Given the description of an element on the screen output the (x, y) to click on. 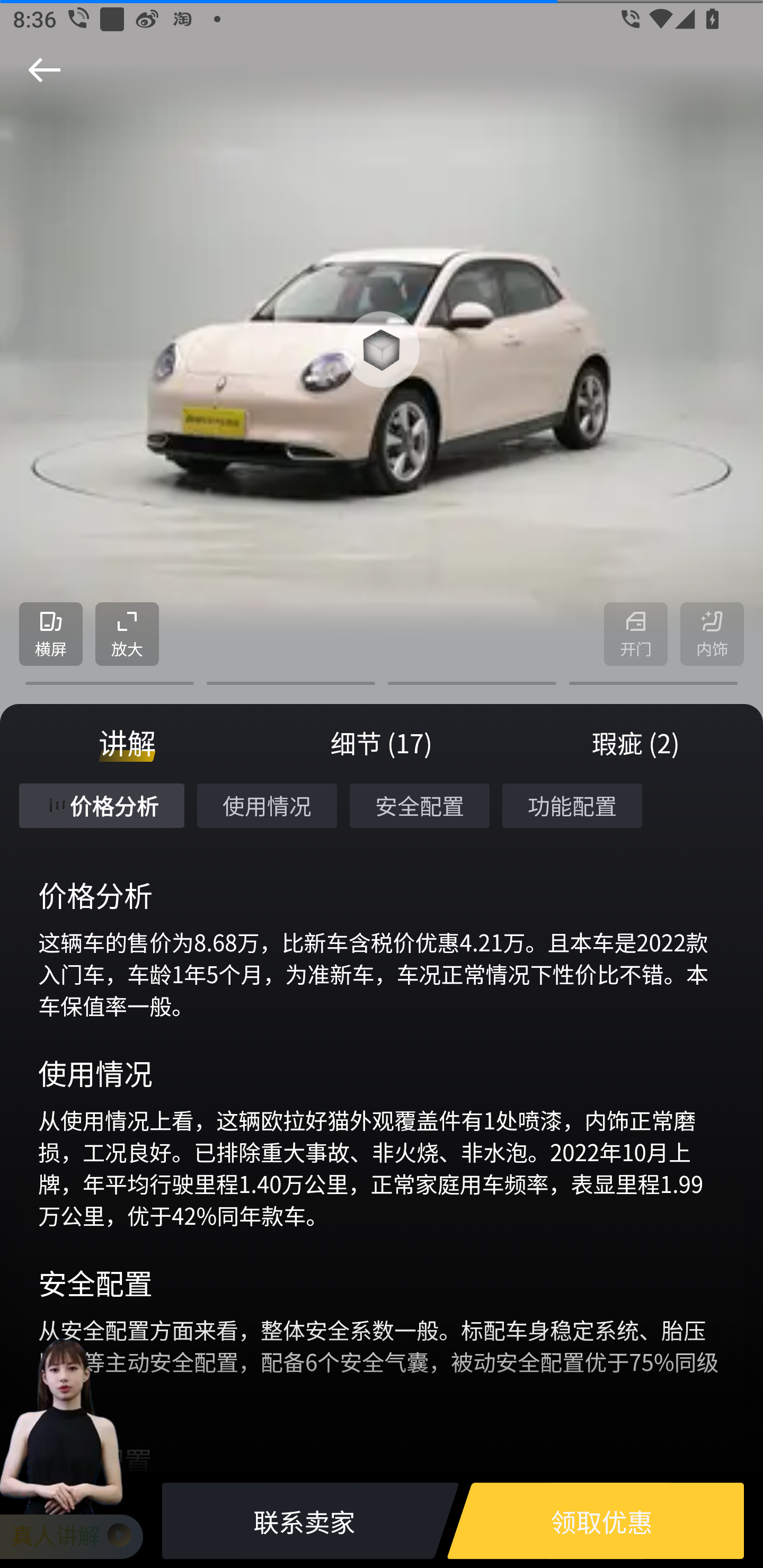
横屏 (50, 634)
放大 (126, 634)
开门 (635, 634)
内饰 (711, 634)
讲解 (127, 743)
细节 (17) (381, 743)
瑕疵 (2) (635, 743)
联系卖家 (303, 1520)
领取优惠 (601, 1520)
